Given the description of an element on the screen output the (x, y) to click on. 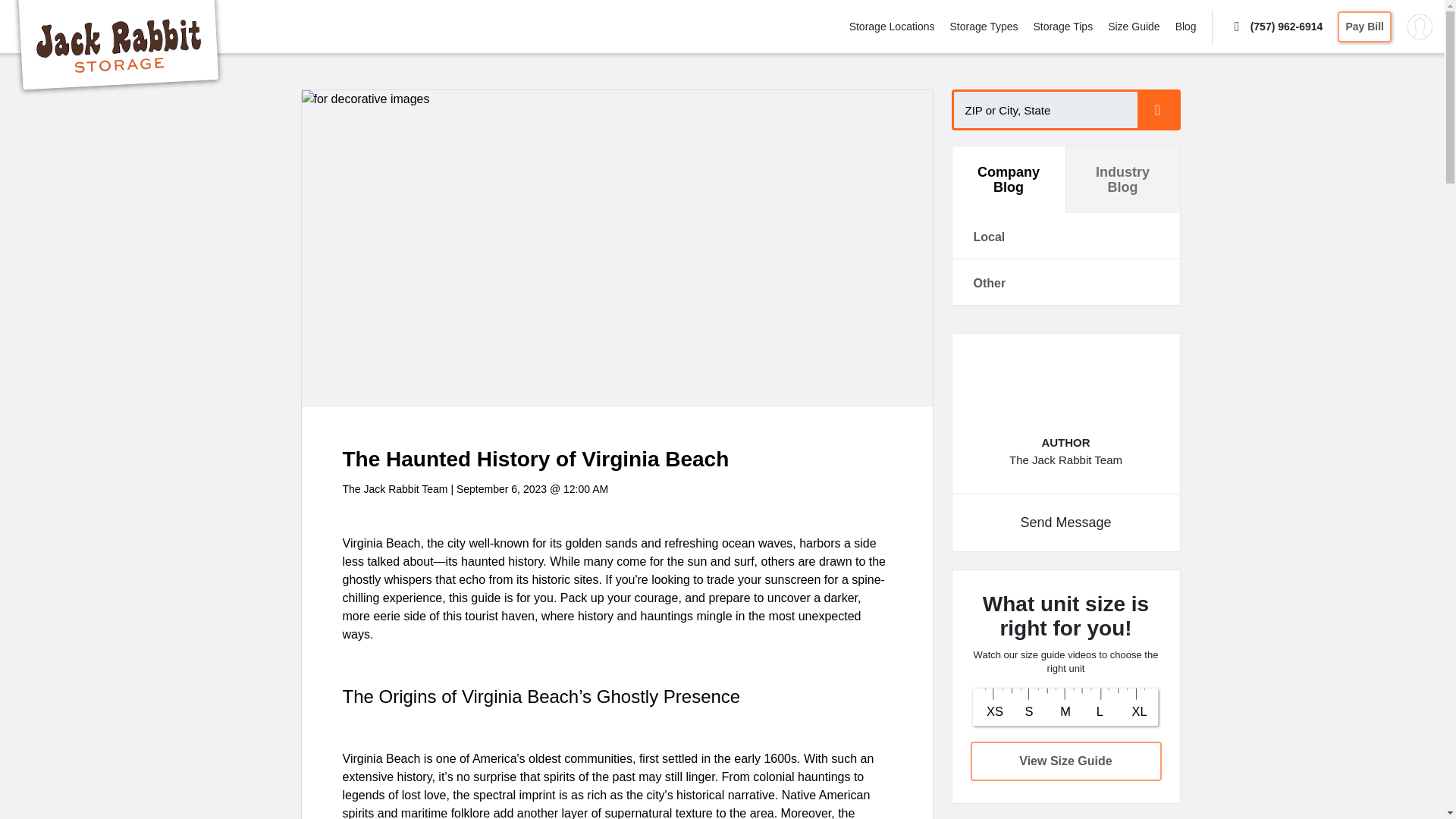
Enter ZIP or City, State (1059, 109)
Size Guide (1133, 25)
Jack Rabbit Storage (118, 47)
Blog (1185, 25)
Storage Types (983, 25)
Blog (1185, 25)
Storage Locations (891, 25)
Send Message (1065, 522)
My account (1419, 25)
View Size Guide (1066, 761)
Local (1065, 235)
Pay Bill (1364, 25)
Storage Tips (1063, 25)
Pay Bill (1364, 25)
Size Guide (1133, 25)
